Given the description of an element on the screen output the (x, y) to click on. 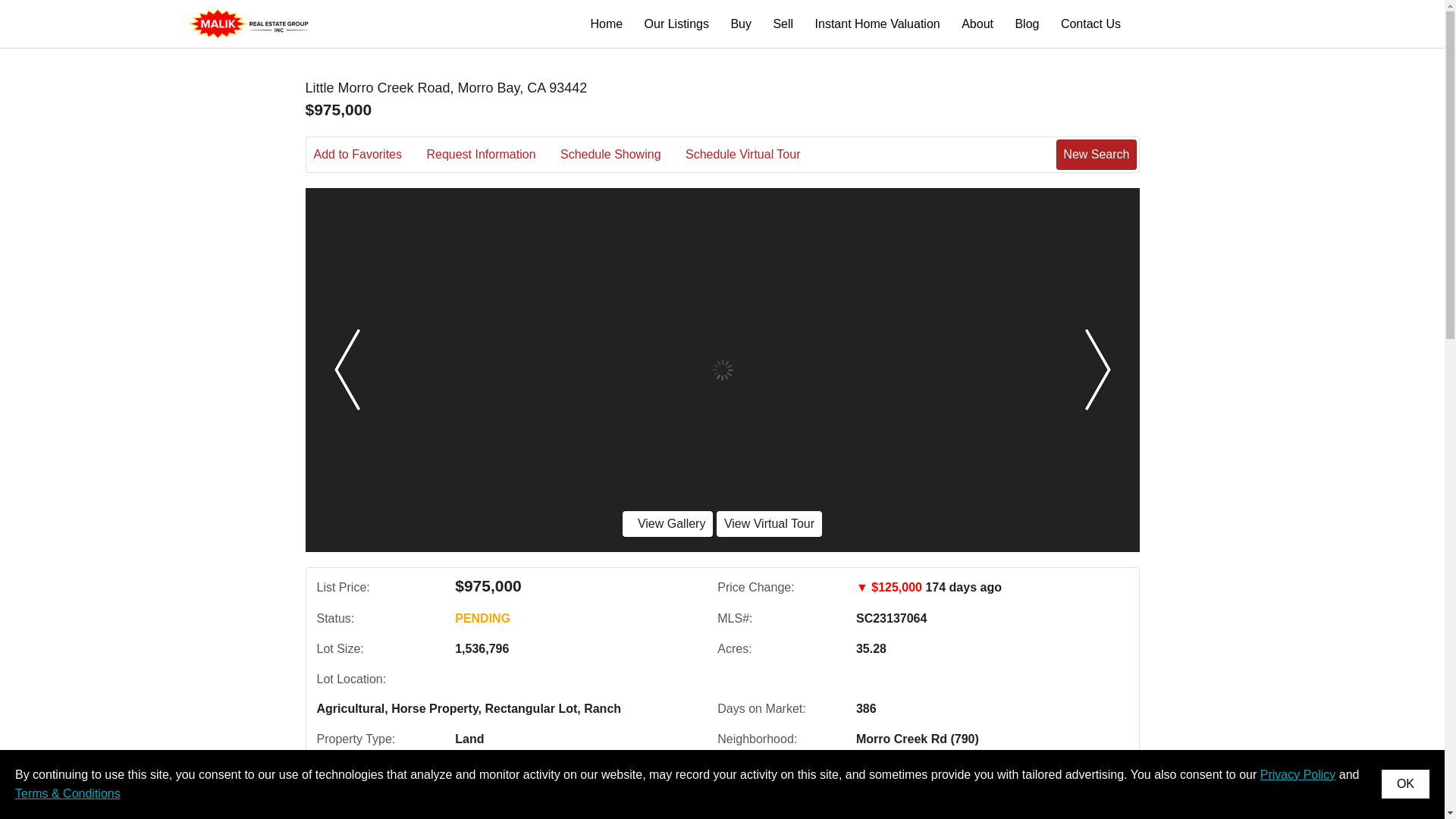
Schedule Showing (621, 154)
View Gallery (668, 522)
Instant Home Valuation (877, 23)
Add to Favorites (368, 154)
About (976, 23)
Share (583, 787)
View Gallery (668, 524)
Contact Us (354, 787)
Call Us (427, 787)
Blog (1026, 23)
